Given the description of an element on the screen output the (x, y) to click on. 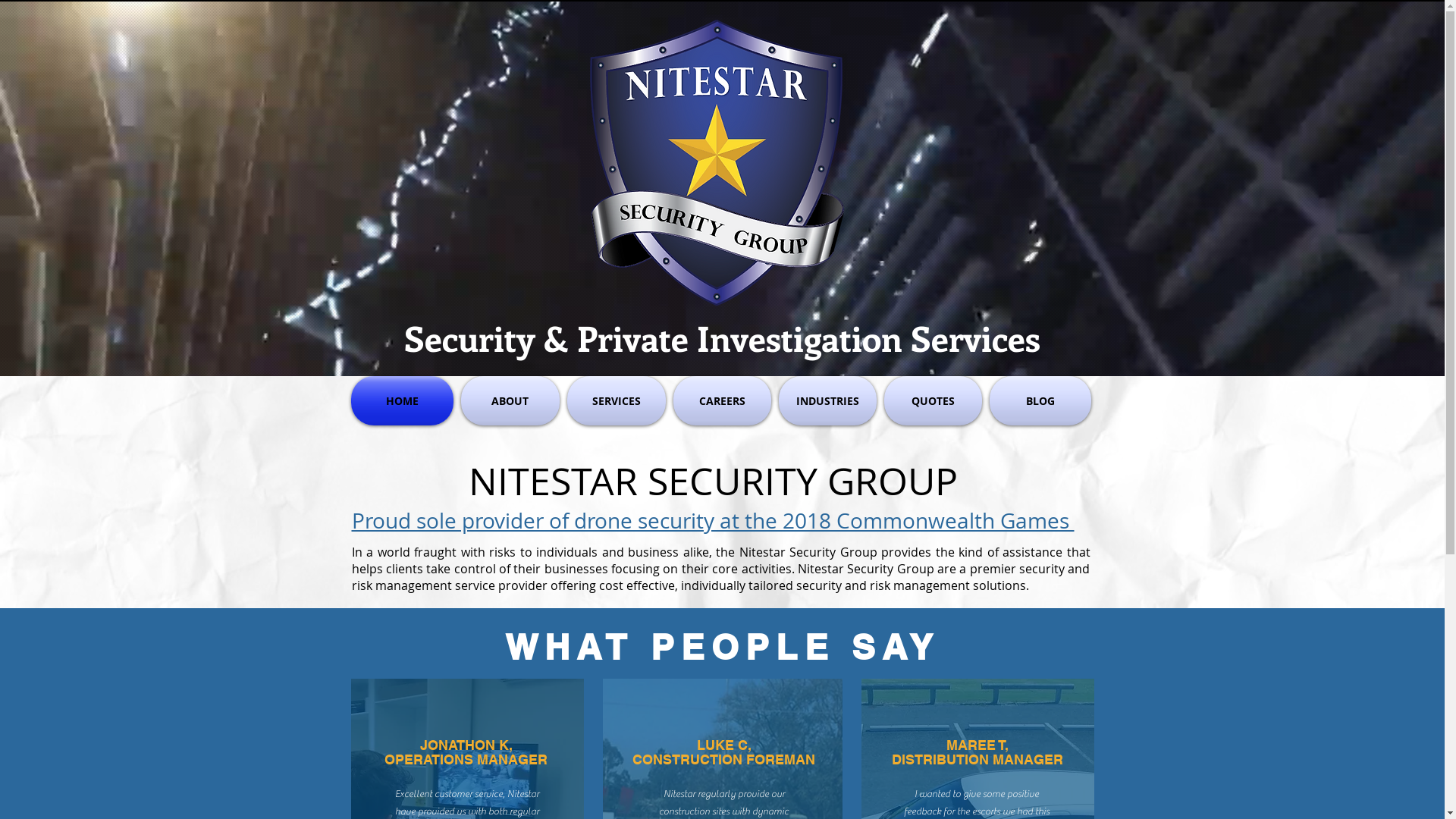
CAREERS Element type: text (849, 82)
INDUSTRIES Element type: text (827, 400)
ABOUT Element type: text (712, 82)
HOME Element type: text (403, 400)
ABOUT Element type: text (509, 400)
SERVICES Element type: text (615, 400)
CAREERS Element type: text (721, 400)
QUOTES Element type: text (1003, 82)
v1_edited.png Element type: hover (400, 55)
HOME Element type: text (654, 82)
v2.png Element type: hover (713, 162)
SERVICES Element type: text (779, 82)
QUOTES Element type: text (932, 400)
INDUSTRIES Element type: text (926, 82)
BLOG Element type: text (1061, 82)
BLOG Element type: text (1038, 400)
